Given the description of an element on the screen output the (x, y) to click on. 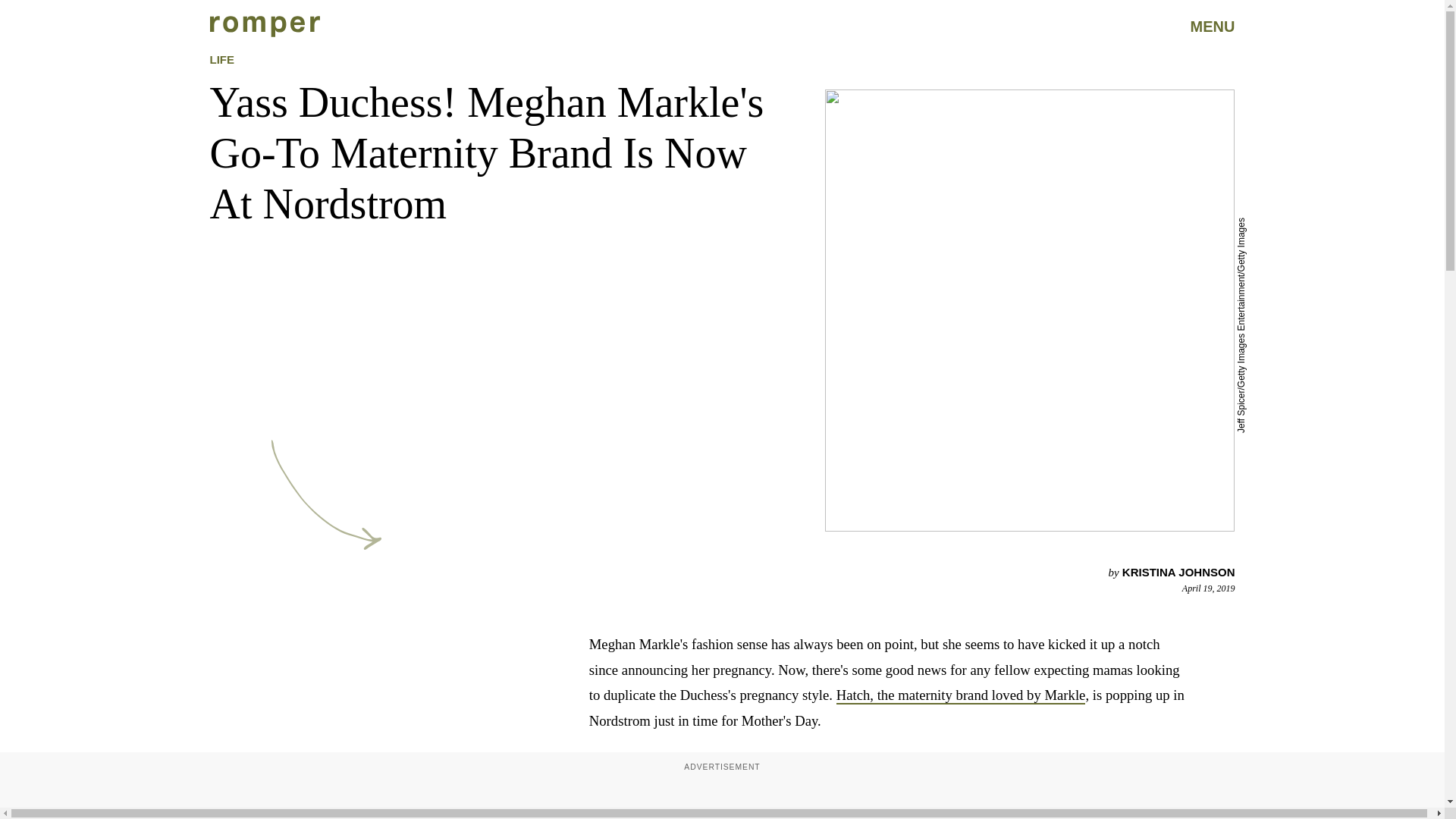
Romper (263, 26)
Hatch, the maternity brand loved by Markle (960, 695)
